Given the description of an element on the screen output the (x, y) to click on. 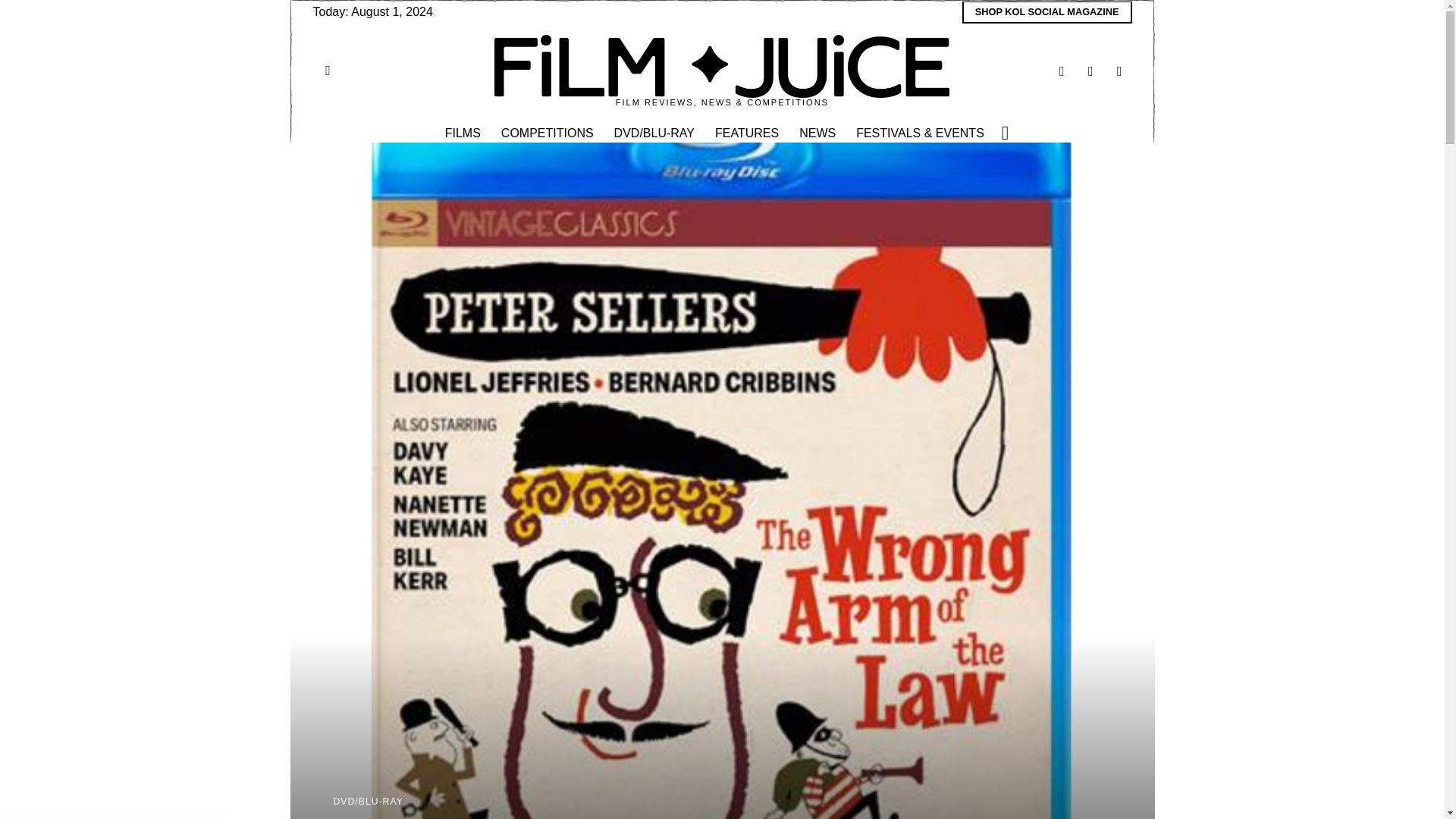
NEWS (818, 132)
FEATURES (748, 132)
FILMS (463, 132)
SHOP KOL SOCIAL MAGAZINE (1047, 11)
COMPETITIONS (548, 132)
